Given the description of an element on the screen output the (x, y) to click on. 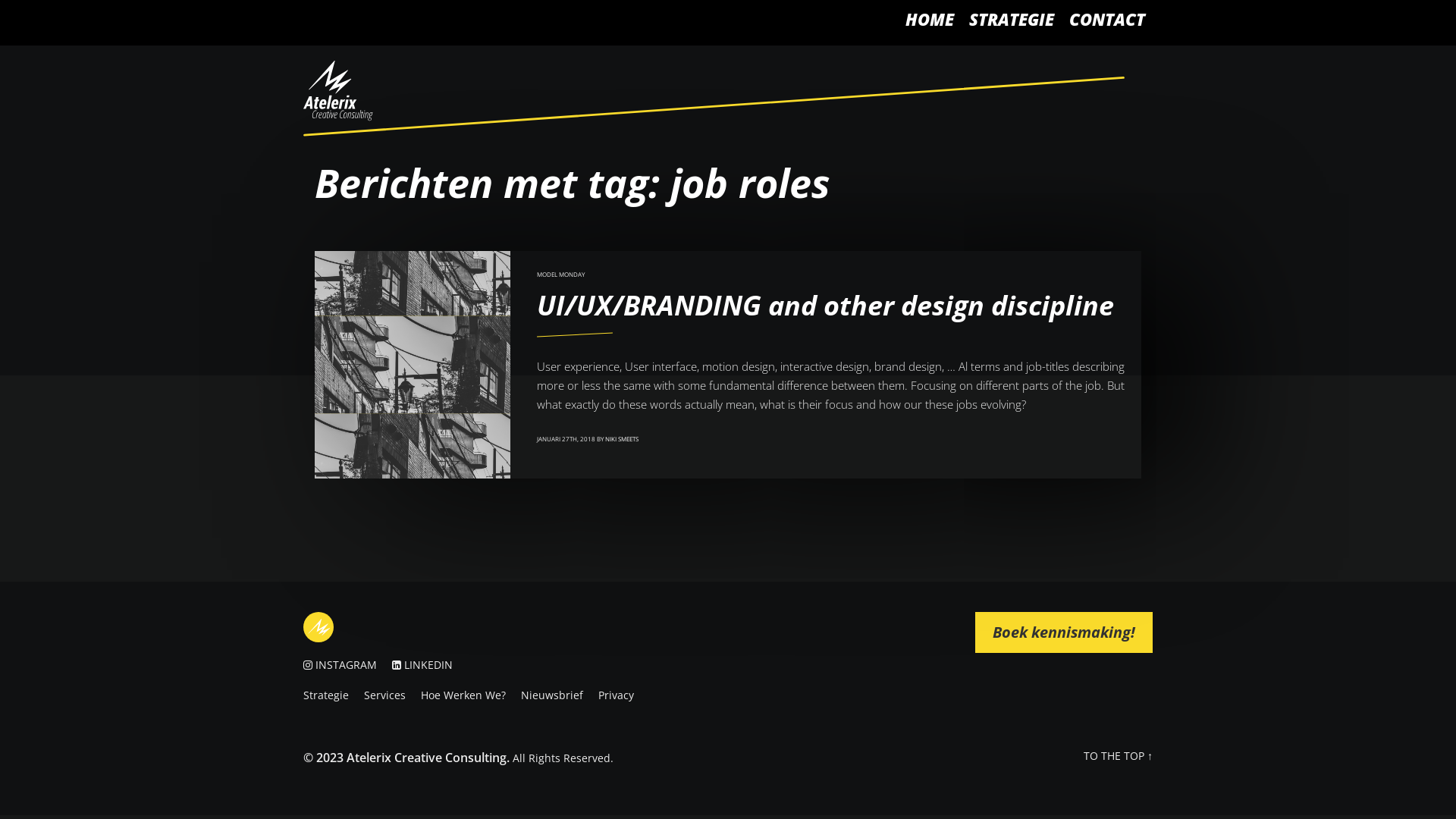
Boek kennismaking! Element type: text (1063, 631)
LINKEDIN Element type: text (428, 664)
UI/UX/BRANDING and other design discipline Element type: text (824, 304)
Services Element type: text (384, 694)
INSTAGRAM Element type: text (345, 664)
Hoe Werken We? Element type: text (462, 694)
Strategie Element type: text (325, 694)
Nieuwsbrief Element type: text (551, 694)
Privacy Element type: text (615, 694)
NIKI SMEETS Element type: text (621, 438)
